Given the description of an element on the screen output the (x, y) to click on. 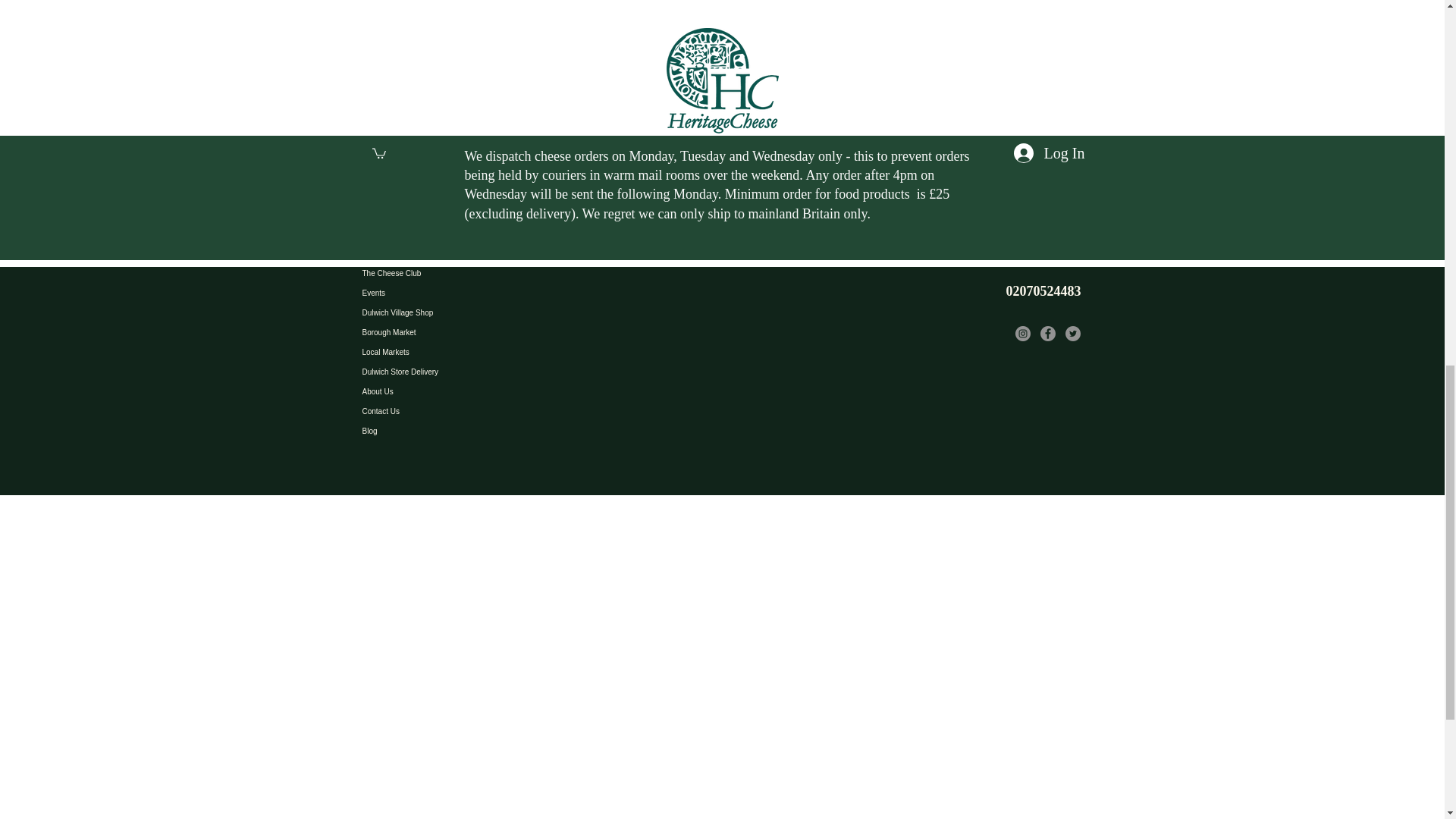
Blog (475, 431)
Local Markets (475, 352)
The Cheese Club (475, 273)
Borough Market (475, 332)
Contact Us (475, 411)
Catering (475, 234)
Heritage Cheese Kids Club (475, 214)
Dulwich Store Delivery (475, 372)
Shop Online (475, 253)
Dulwich Village Shop (475, 312)
Events (475, 293)
About Us (475, 392)
Home (475, 194)
